Given the description of an element on the screen output the (x, y) to click on. 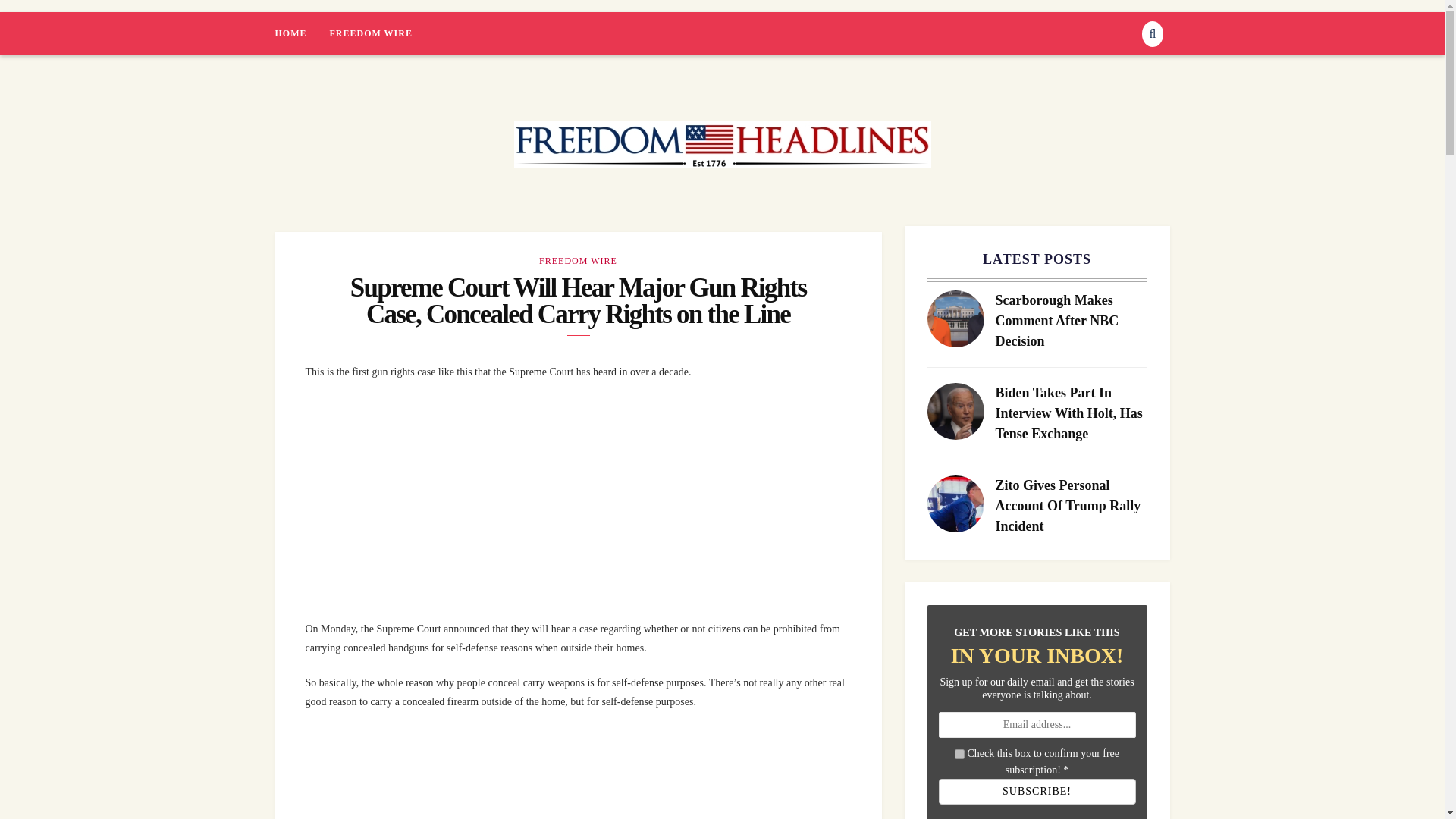
Advertisement (600, 772)
1 (959, 754)
Advertisement (600, 502)
FREEDOM WIRE (577, 260)
FREEDOM WIRE (370, 33)
HOME (302, 33)
